Given the description of an element on the screen output the (x, y) to click on. 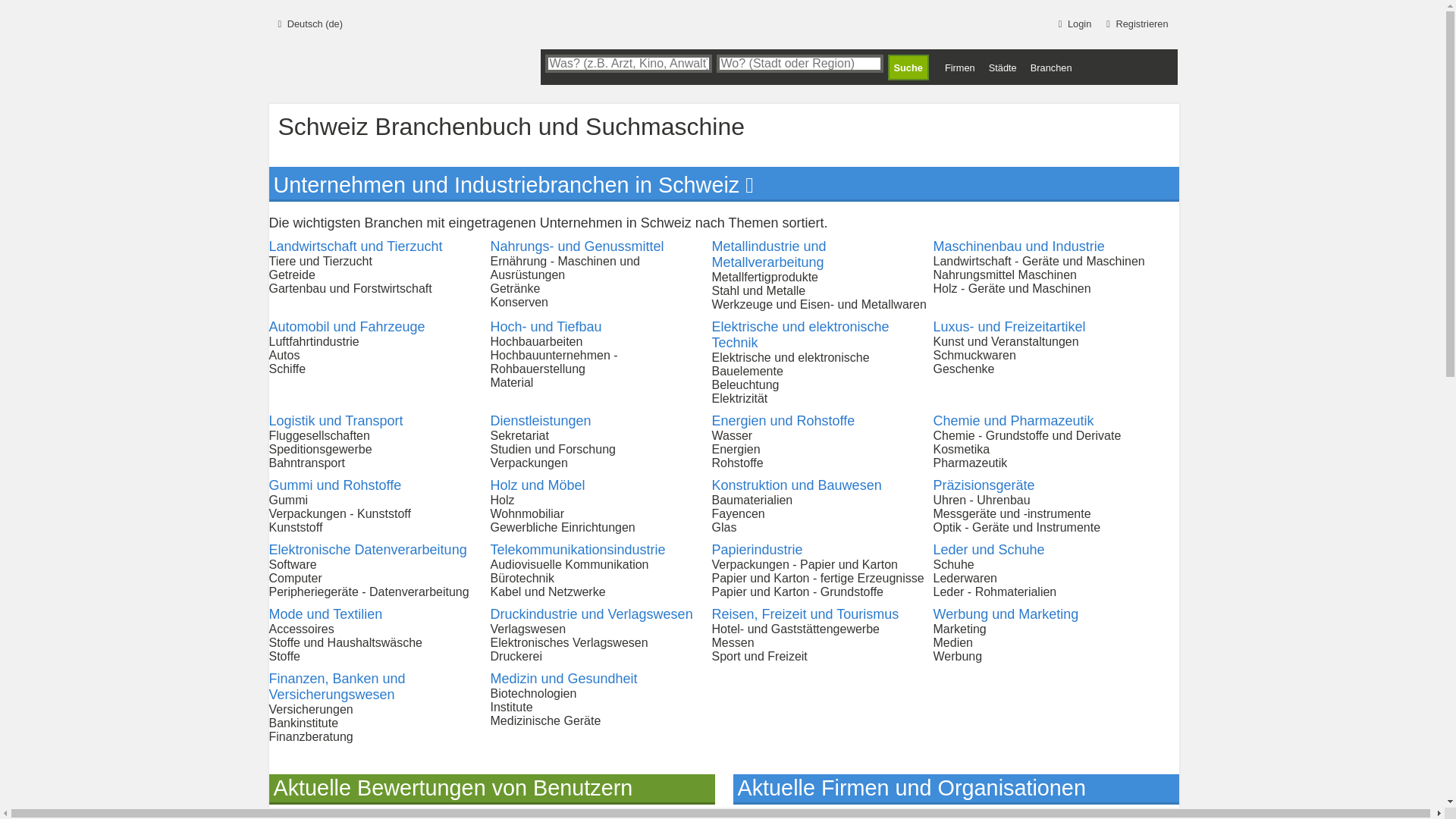
Deutsch (de) Element type: text (306, 21)
Energien und Rohstoffe Element type: text (782, 420)
Reisen, Freizeit und Tourismus Element type: text (804, 613)
Logistik und Transport Element type: text (335, 420)
Medizin und Gesundheit Element type: text (563, 678)
Metallindustrie und Metallverarbeitung Element type: text (768, 253)
Landwirtschaft und Tierzucht Element type: text (355, 246)
Gummi und Rohstoffe Element type: text (334, 484)
Dienstleistungen Element type: text (539, 420)
Luxus- und Freizeitartikel Element type: text (1008, 326)
Branchen Element type: text (1051, 67)
Firmen Element type: text (959, 67)
Registrieren Element type: text (1133, 21)
Nahrungs- und Genussmittel Element type: text (576, 246)
Papierindustrie Element type: text (756, 549)
Telekommunikationsindustrie Element type: text (577, 549)
Elektrische und elektronische Technik Element type: text (799, 334)
Chemie und Pharmazeutik Element type: text (1012, 420)
Druckindustrie und Verlagswesen Element type: text (590, 613)
Konstruktion und Bauwesen Element type: text (796, 484)
Suche Element type: text (907, 67)
Finanzen, Banken und Versicherungswesen Element type: text (336, 686)
Werbung und Marketing Element type: text (1005, 613)
Elektronische Datenverarbeitung Element type: text (367, 549)
Mode und Textilien Element type: text (325, 613)
Maschinenbau und Industrie Element type: text (1018, 246)
Login Element type: text (1072, 21)
Automobil und Fahrzeuge Element type: text (346, 326)
Leder und Schuhe Element type: text (988, 549)
Hoch- und Tiefbau Element type: text (545, 326)
